Given the description of an element on the screen output the (x, y) to click on. 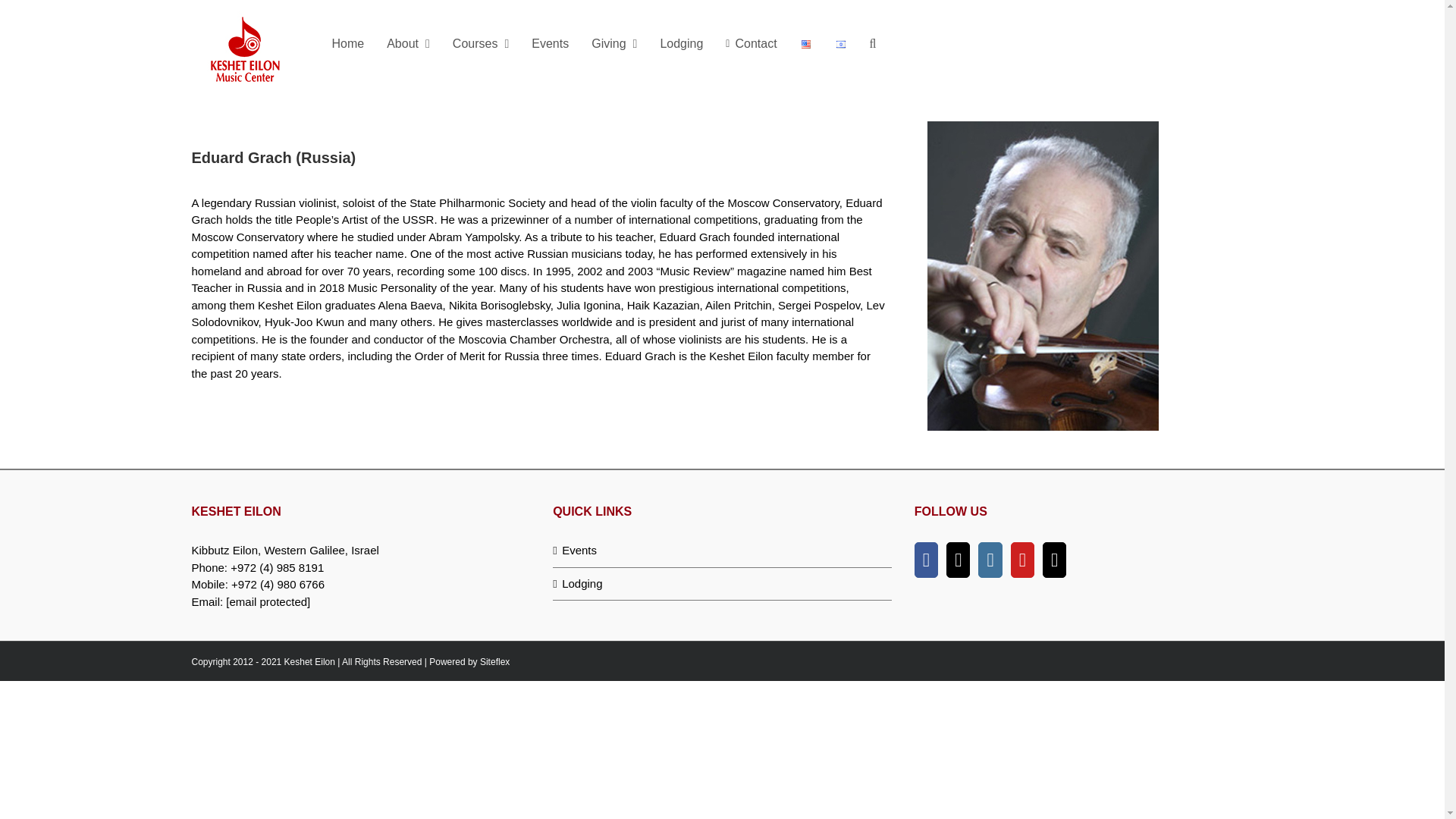
Courses (480, 43)
Lodging (722, 583)
Events (722, 550)
